Given the description of an element on the screen output the (x, y) to click on. 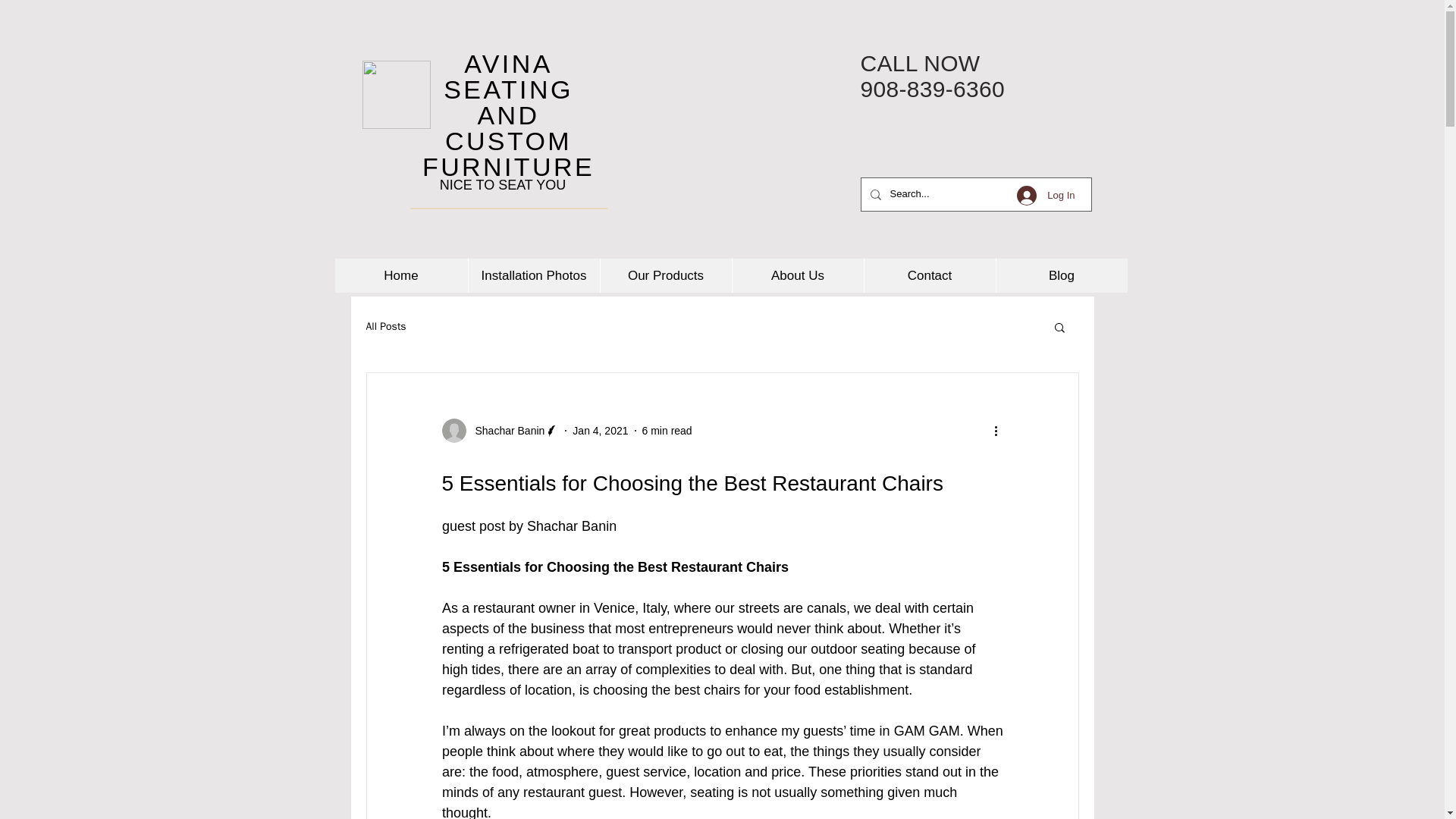
Blog (1060, 275)
Contact (928, 275)
About Us (796, 275)
Shachar Banin  (504, 430)
6 min read (667, 430)
AVINA SEATING AND CUSTOM FURNITURE (508, 114)
Log In (1045, 194)
Jan 4, 2021 (599, 430)
Shachar Banin (500, 430)
Our Products (664, 275)
All Posts (385, 326)
Installation Photos (532, 275)
Home (400, 275)
NICE TO SEAT YOU (502, 184)
